Given the description of an element on the screen output the (x, y) to click on. 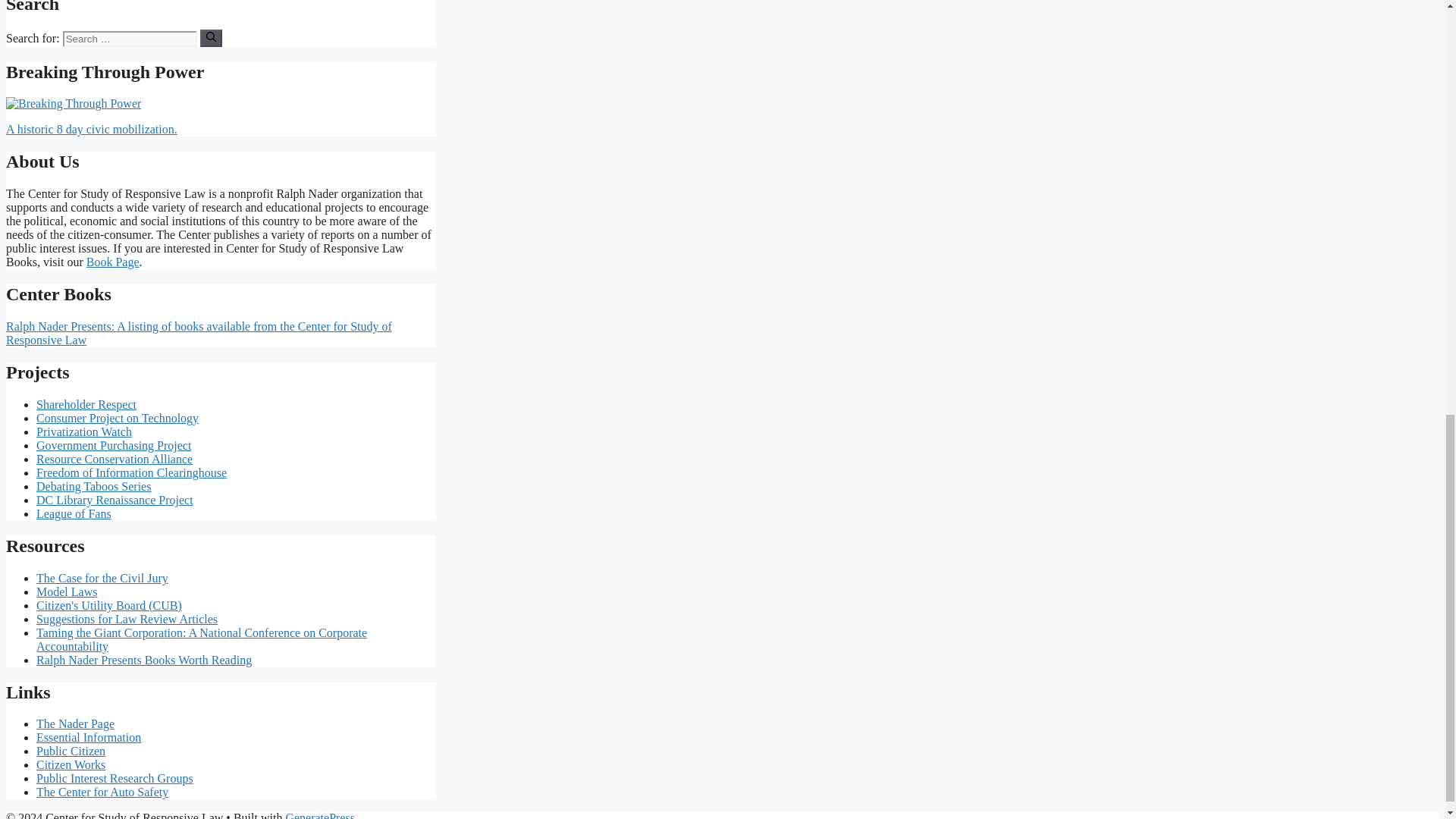
Privatization Watch (84, 431)
Essential Information (88, 737)
Book Page (112, 261)
A historic 8 day civic mobilization. (91, 128)
Resource Conservation Alliance (114, 459)
DC Library Renaissance Project (114, 499)
Shareholder Respect (86, 404)
Ralph Nader Presents Books Worth Reading (143, 659)
Consumer Project on Technology (117, 418)
Model Laws (66, 591)
Government Purchasing Project (113, 445)
Suggestions for Law Review Articles (126, 618)
Freedom of Information Clearinghouse (131, 472)
Public Interest Research Groups (114, 778)
